Given the description of an element on the screen output the (x, y) to click on. 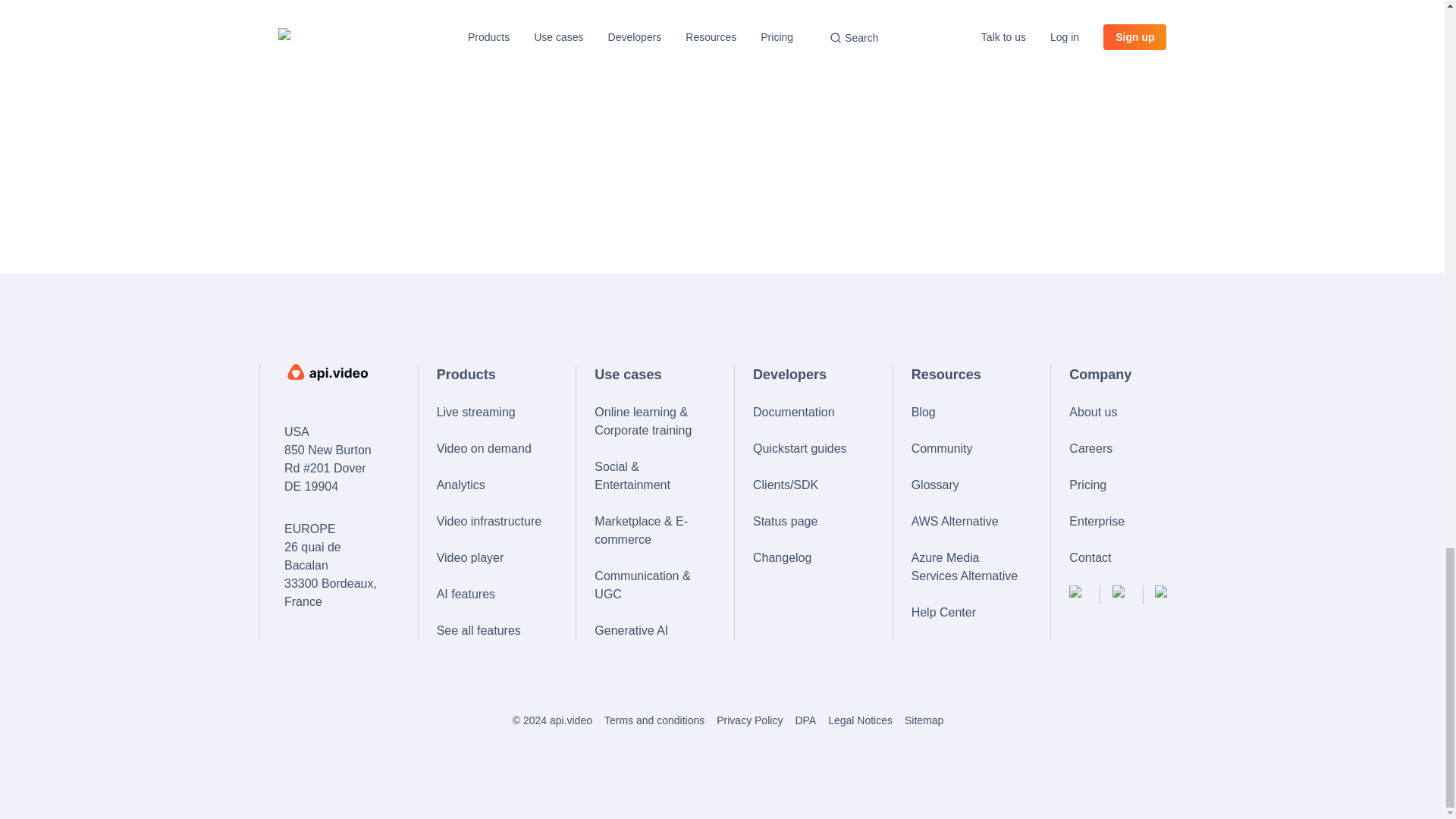
Analytics (491, 484)
Video player (491, 557)
Video on demand (491, 448)
Live streaming (491, 412)
Video infrastructure (491, 521)
AI features (491, 594)
